Given the description of an element on the screen output the (x, y) to click on. 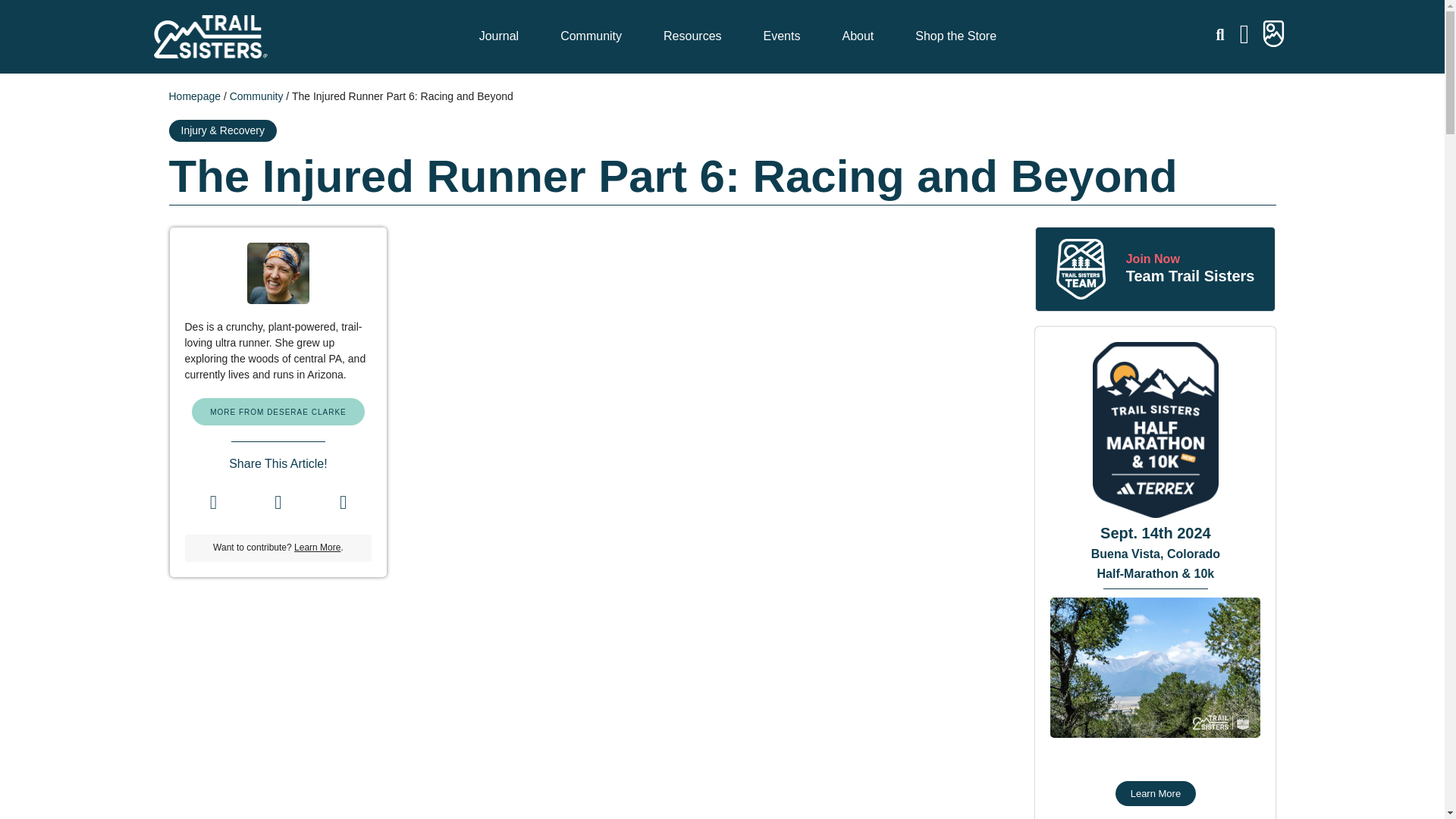
Shop the Store (955, 36)
Events (785, 36)
Resources (695, 36)
About (860, 36)
Journal (502, 36)
Community (594, 36)
